Given the description of an element on the screen output the (x, y) to click on. 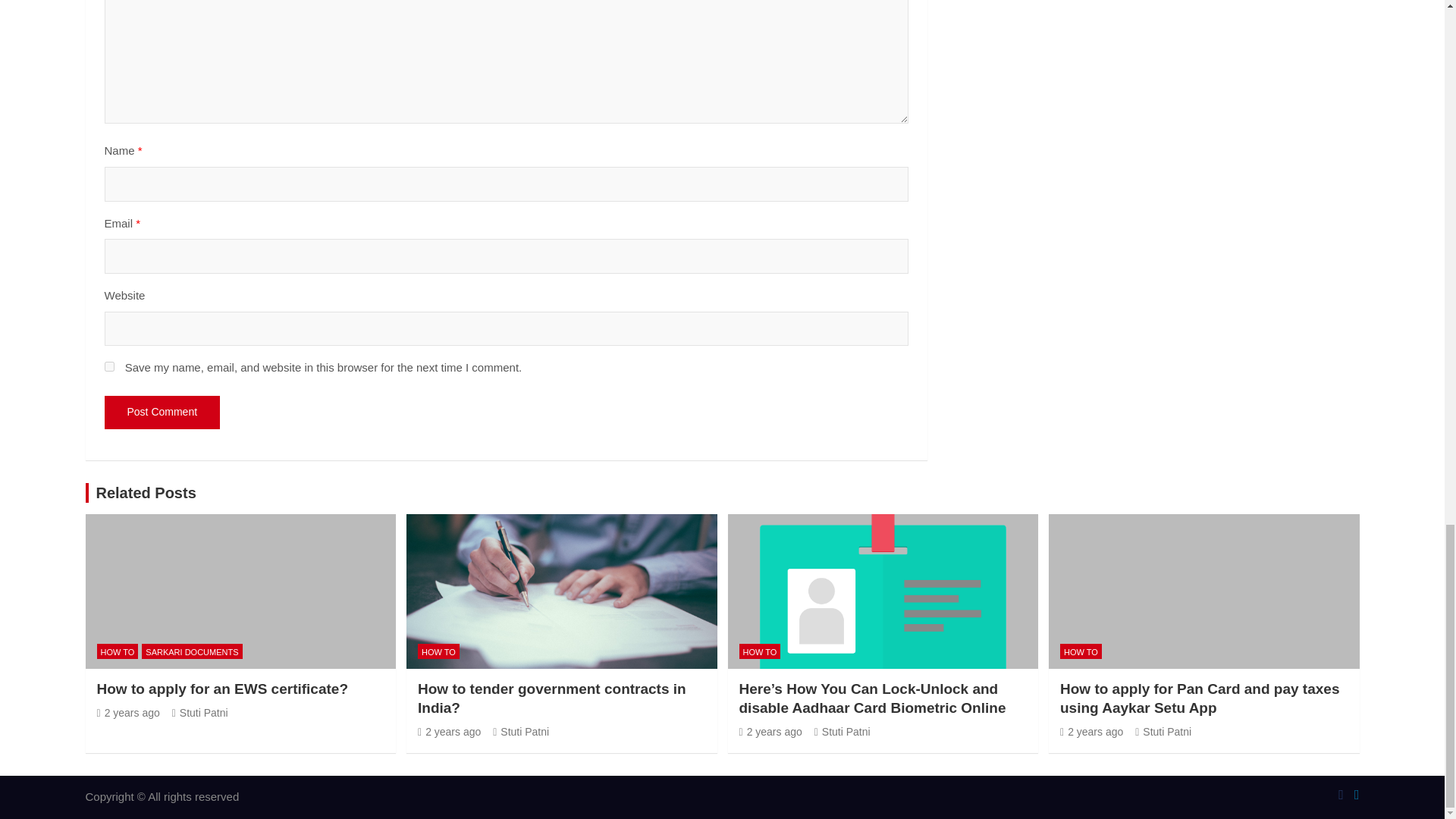
How to apply for an EWS certificate? (128, 712)
SARKARI DOCUMENTS (191, 651)
Post Comment (162, 412)
2 years ago (128, 712)
Stuti Patni (199, 712)
Post Comment (162, 412)
HOW TO (438, 651)
yes (109, 366)
HOW TO (117, 651)
How to tender government contracts in India? (551, 697)
